Given the description of an element on the screen output the (x, y) to click on. 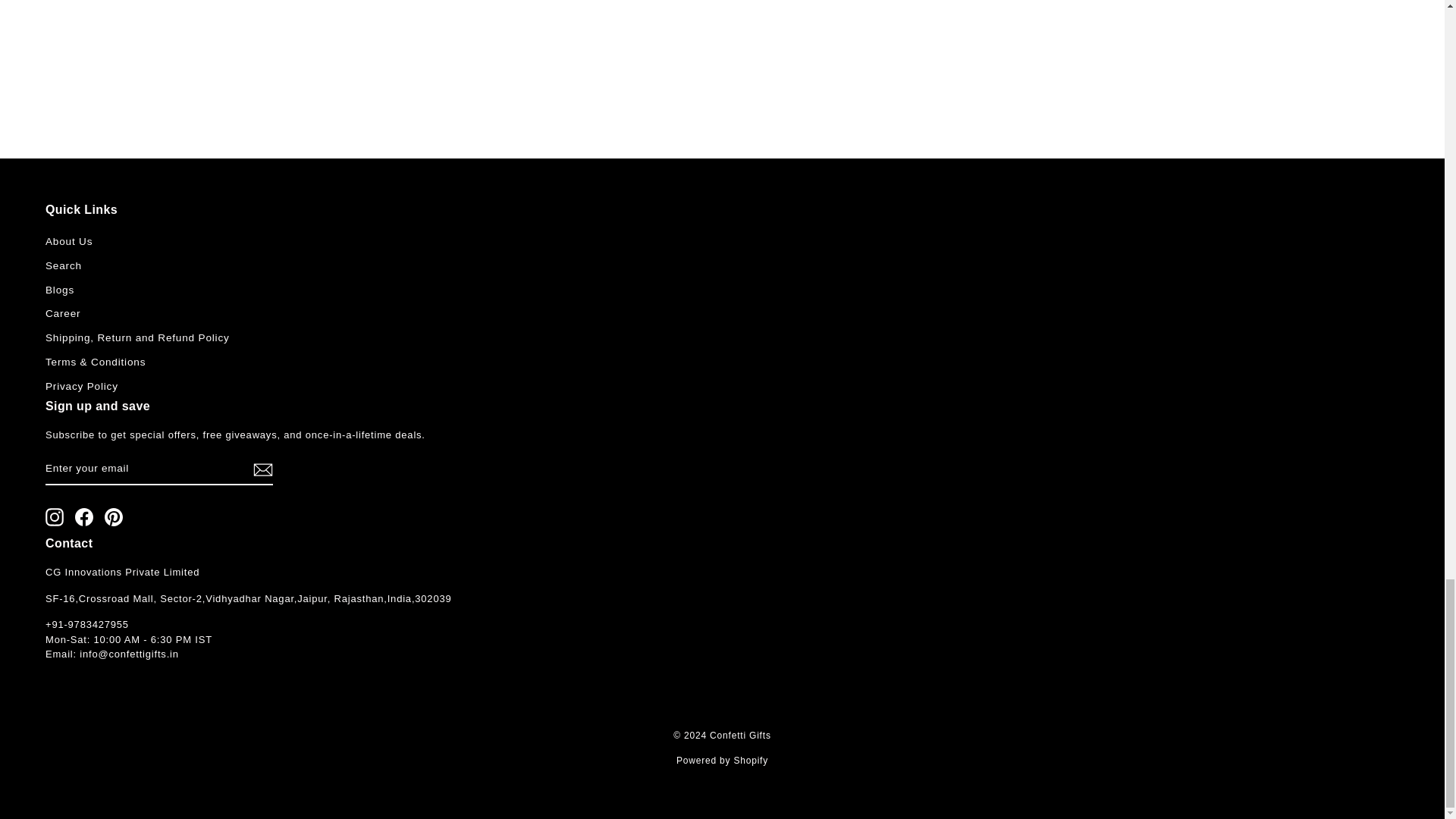
instagram (54, 516)
Confetti Gifts on Instagram (54, 516)
Confetti Gifts on Pinterest (113, 516)
Confetti Gifts on Facebook (84, 516)
icon-email (263, 470)
